Given the description of an element on the screen output the (x, y) to click on. 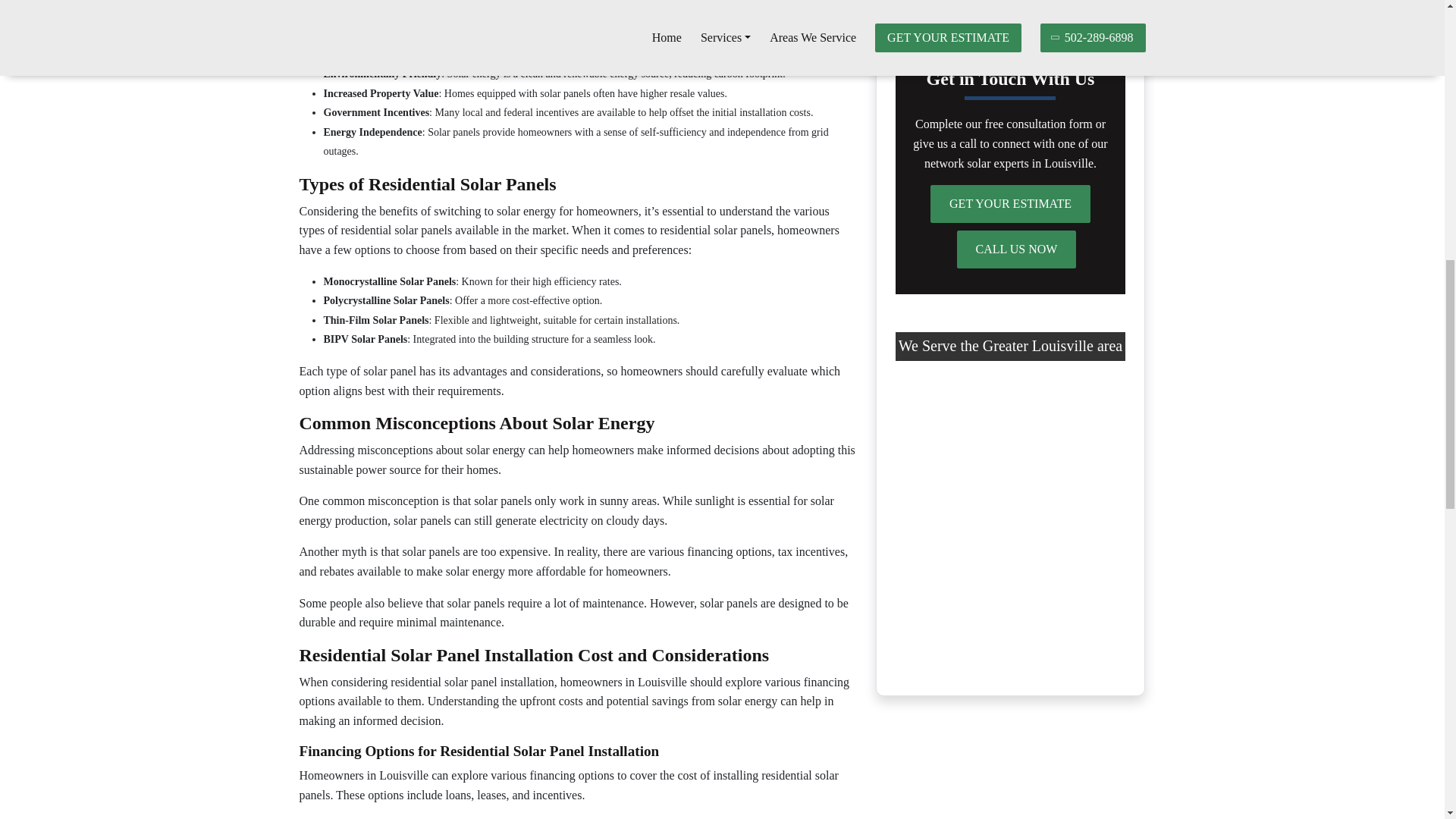
CALL US NOW (1016, 249)
GET YOUR ESTIMATE (1010, 203)
